Given the description of an element on the screen output the (x, y) to click on. 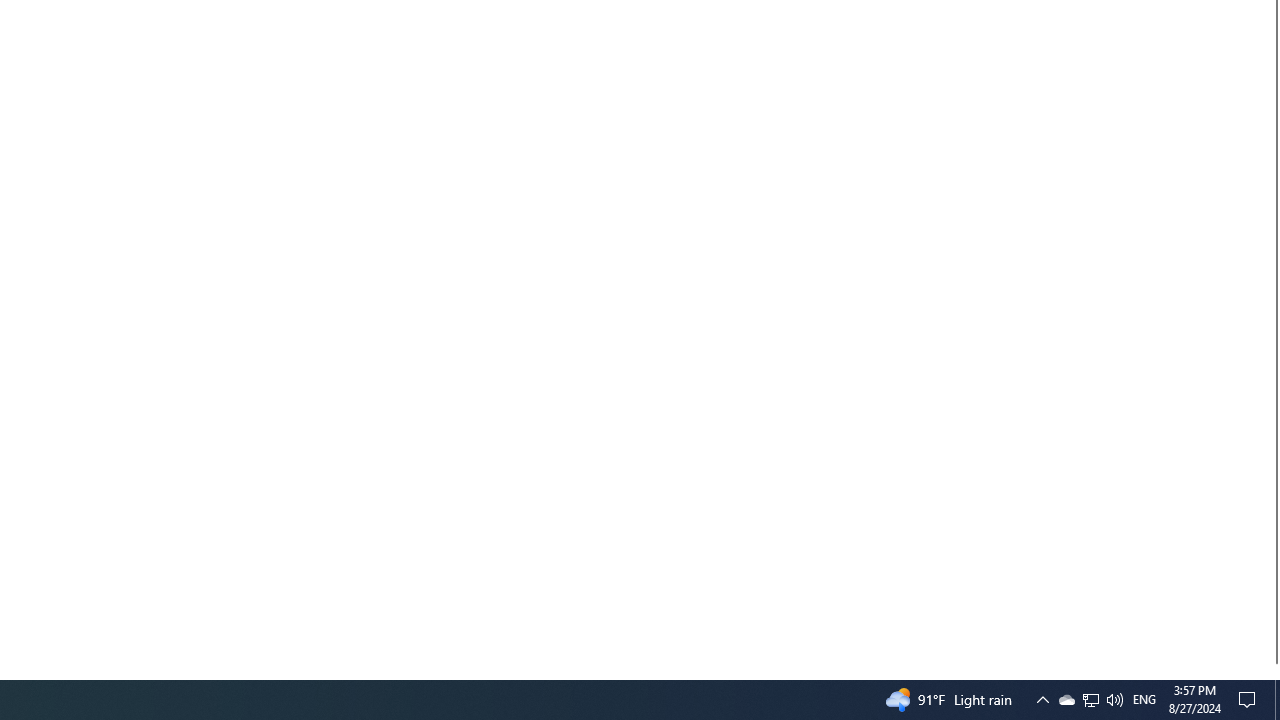
User Promoted Notification Area (1091, 699)
Show desktop (1090, 699)
Tray Input Indicator - English (United States) (1277, 699)
Notification Chevron (1066, 699)
Action Center, No new notifications (1144, 699)
Q2790: 100% (1042, 699)
